Given the description of an element on the screen output the (x, y) to click on. 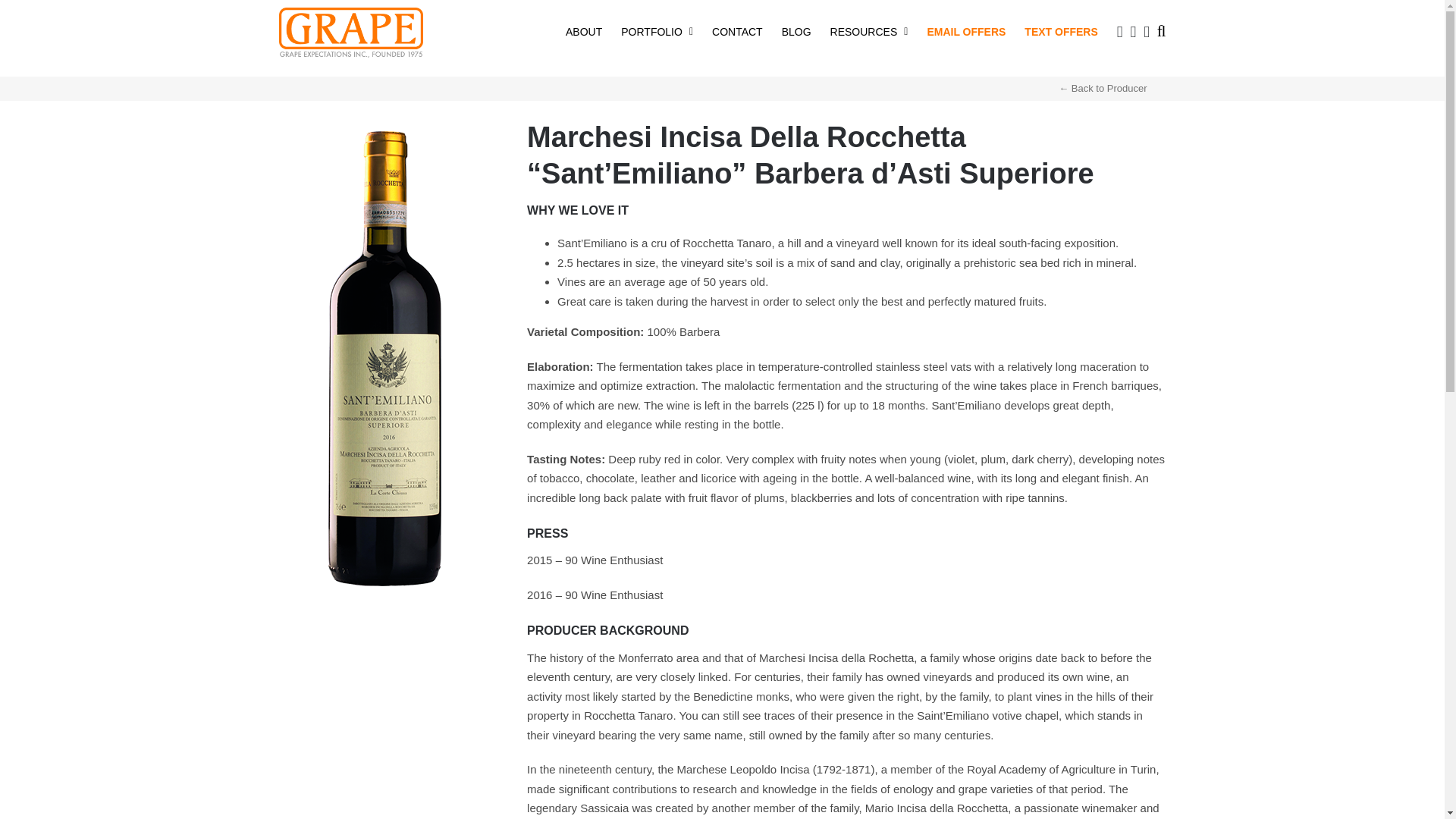
PORTFOLIO (657, 30)
RESOURCES (868, 30)
TEXT OFFERS (1061, 30)
EMAIL OFFERS (966, 30)
